Given the description of an element on the screen output the (x, y) to click on. 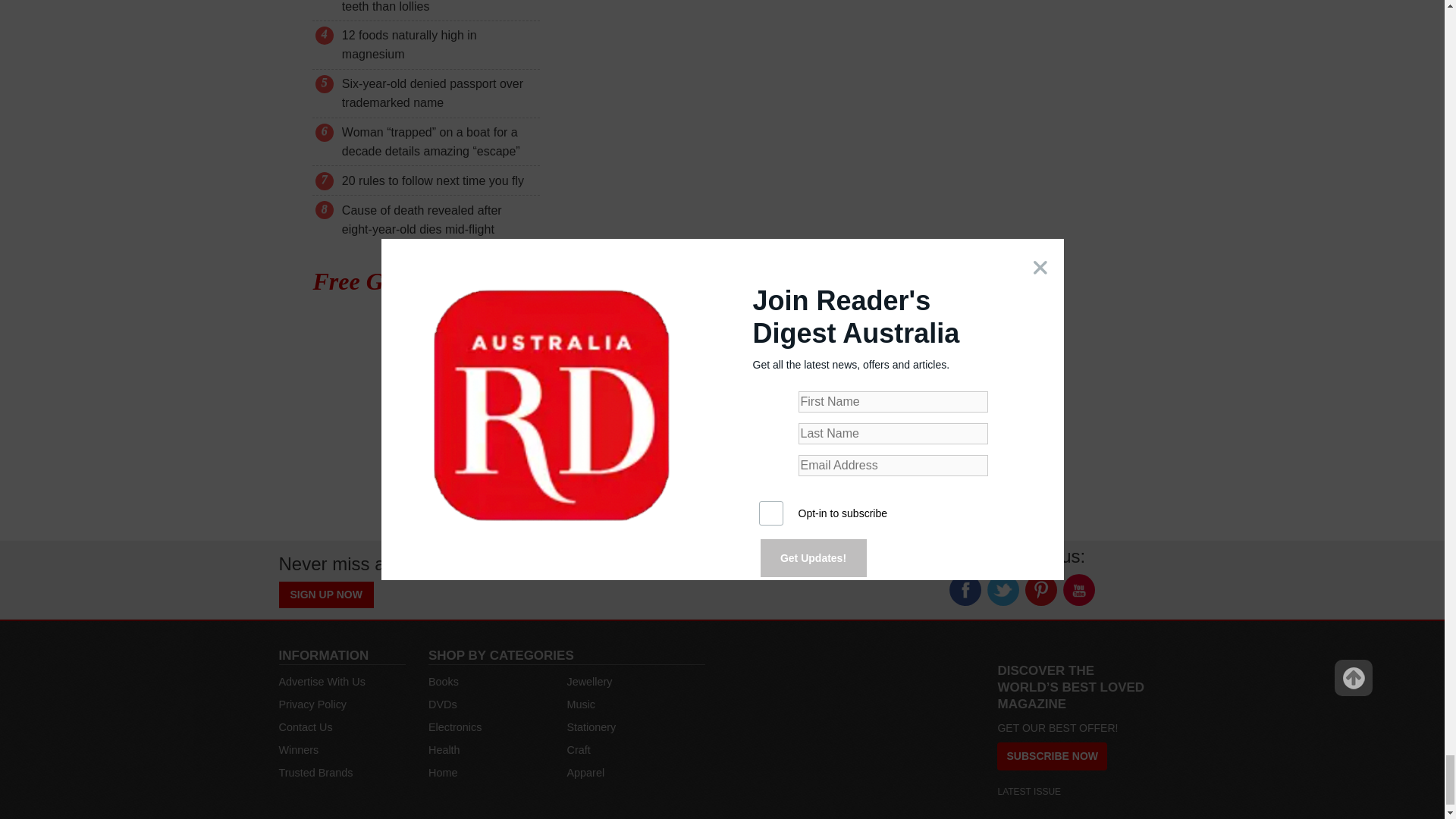
Wordsearch (345, 442)
Trivia (345, 330)
Sudoku (345, 386)
Wordsearch (345, 444)
Sudoku (345, 386)
Trivia (345, 328)
